Given the description of an element on the screen output the (x, y) to click on. 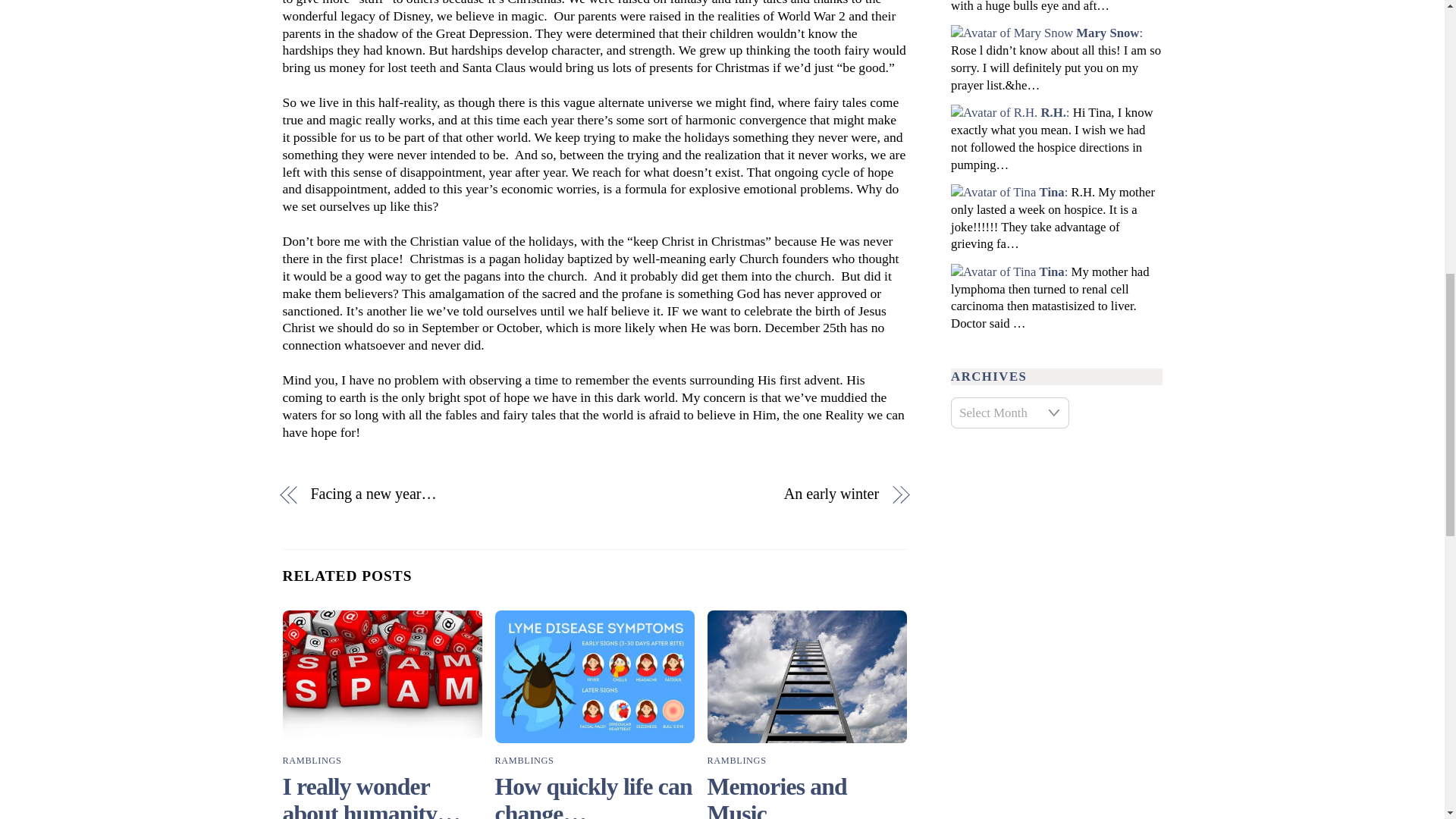
R.H.: (1054, 112)
Memories and Music (807, 675)
Mary Snow: (1108, 32)
RAMBLINGS (737, 760)
RAMBLINGS (311, 760)
Memories and Music (777, 796)
Tina: (1053, 192)
RAMBLINGS (524, 760)
An early winter (745, 493)
